Given the description of an element on the screen output the (x, y) to click on. 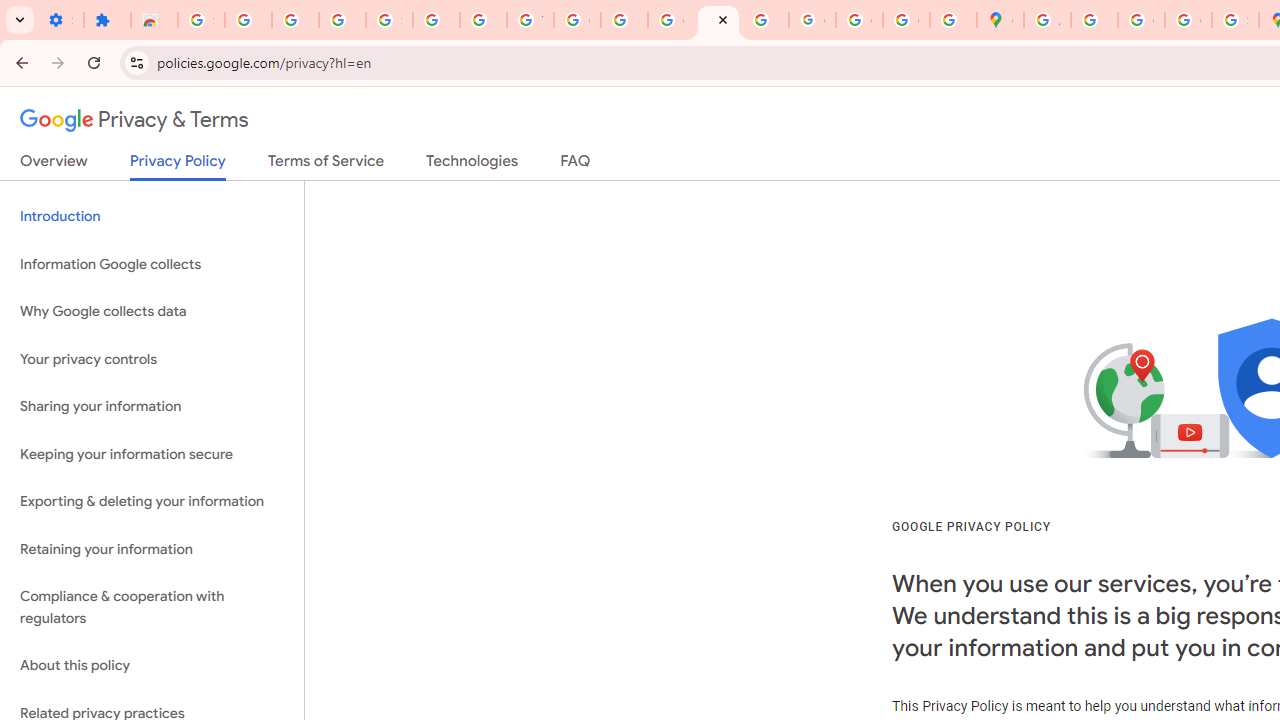
Safety in Our Products - Google Safety Center (1235, 20)
About this policy (152, 666)
Introduction (152, 216)
Learn how to find your photos - Google Photos Help (294, 20)
Why Google collects data (152, 312)
https://scholar.google.com/ (623, 20)
